Given the description of an element on the screen output the (x, y) to click on. 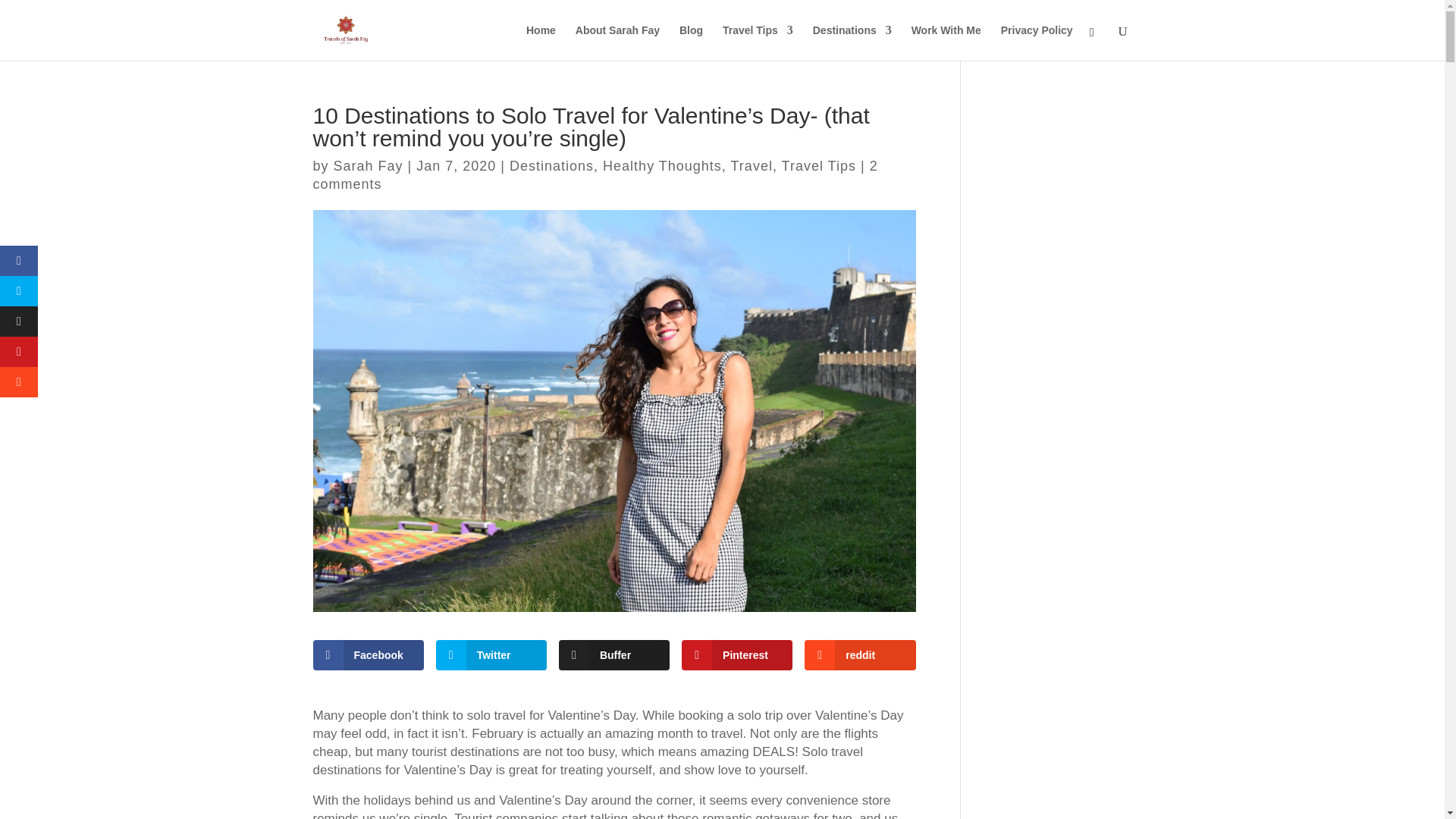
Posts by Sarah Fay (368, 165)
Facebook (368, 654)
Destinations (551, 165)
Twitter (491, 654)
Privacy Policy (1037, 42)
Destinations (851, 42)
About Sarah Fay (617, 42)
Pinterest (736, 654)
Travel Tips (818, 165)
Travel (751, 165)
Work With Me (946, 42)
Blog (691, 42)
reddit (860, 654)
2 comments (595, 174)
Buffer (614, 654)
